Given the description of an element on the screen output the (x, y) to click on. 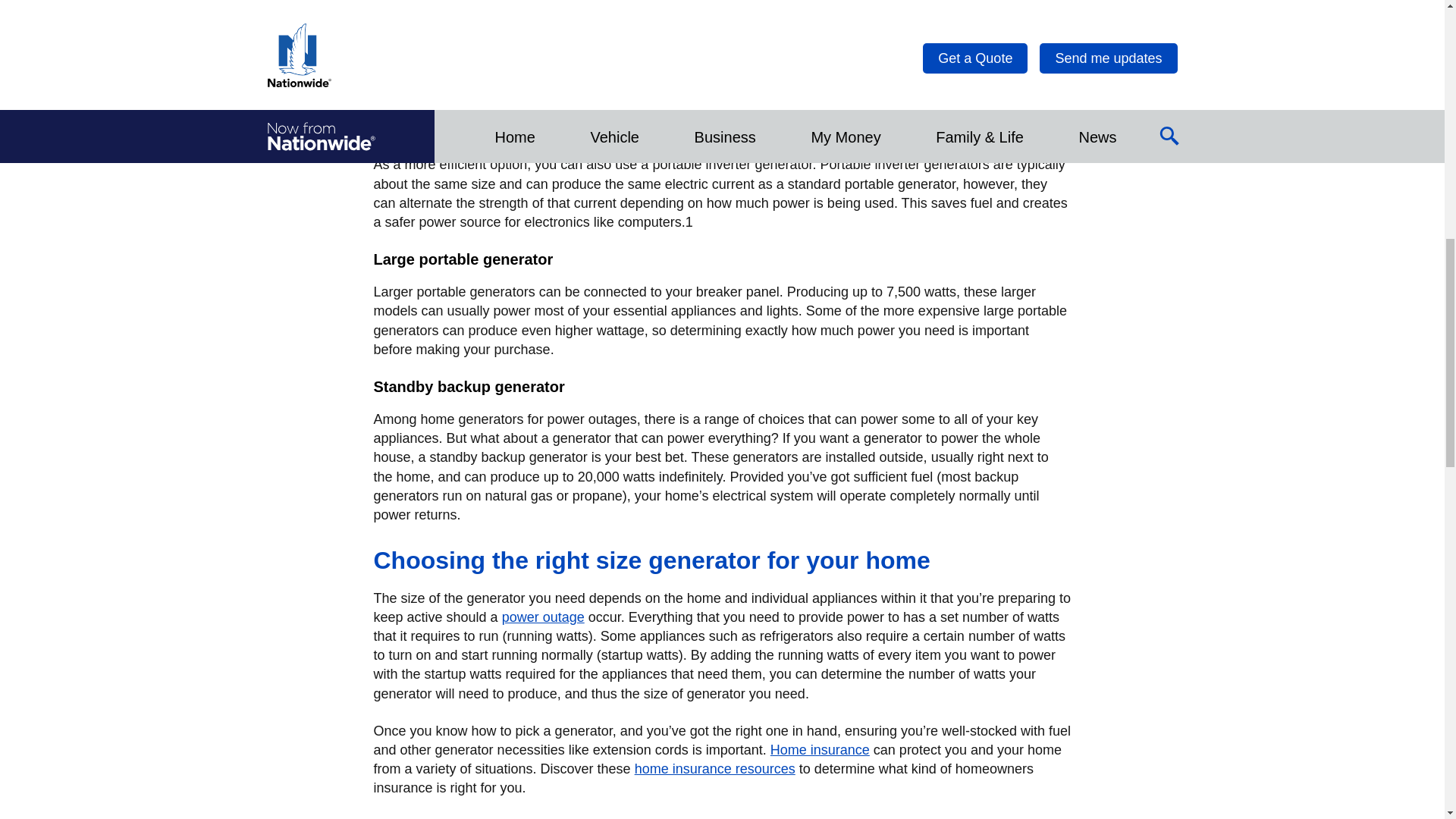
Blackouts (543, 616)
Homeowners Insurance (819, 749)
Types of Homeowners Insurance (714, 768)
